Given the description of an element on the screen output the (x, y) to click on. 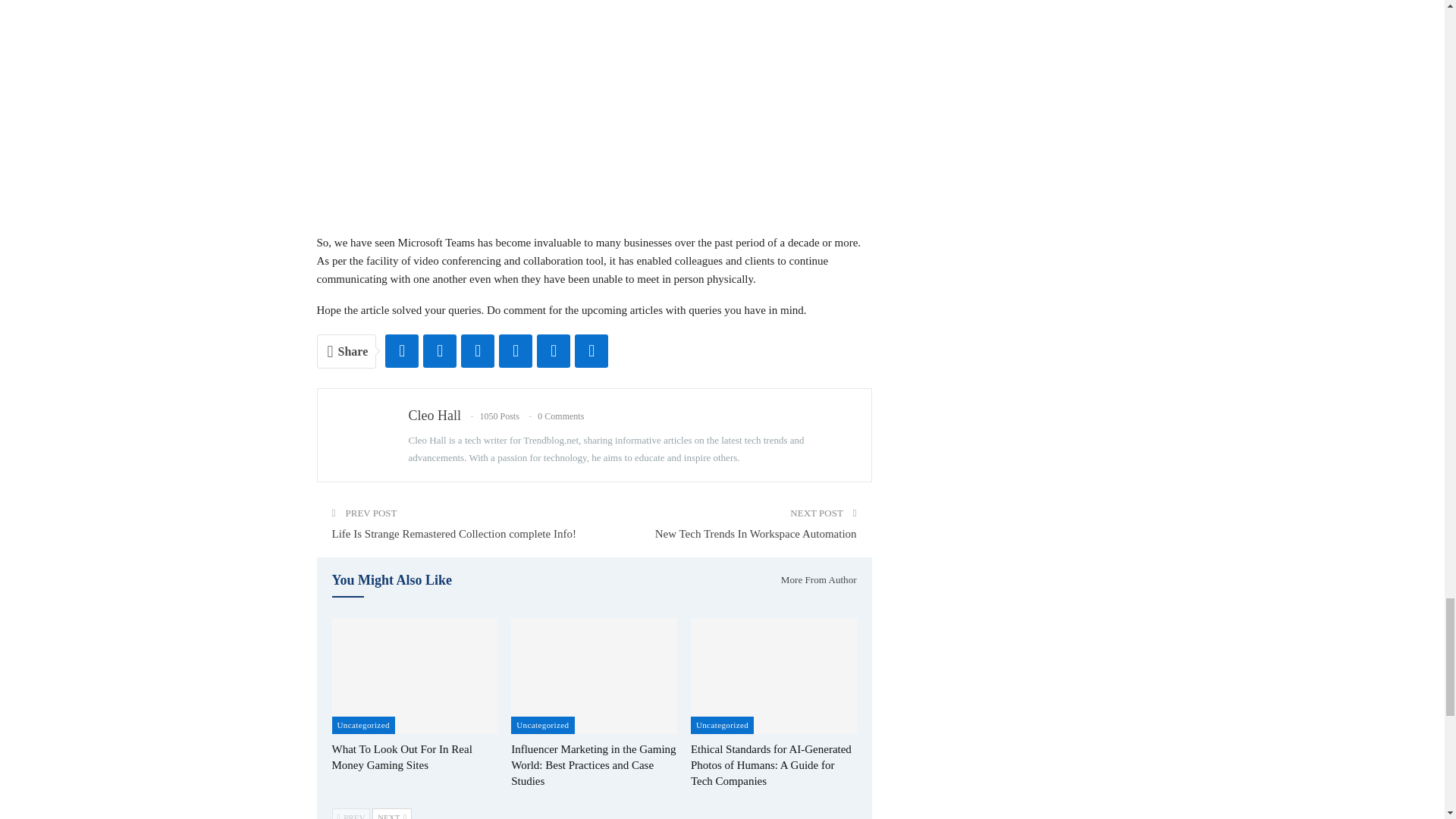
What To Look Out For In Real Money Gaming Sites (401, 756)
What To Look Out For In Real Money Gaming Sites (414, 675)
